Given the description of an element on the screen output the (x, y) to click on. 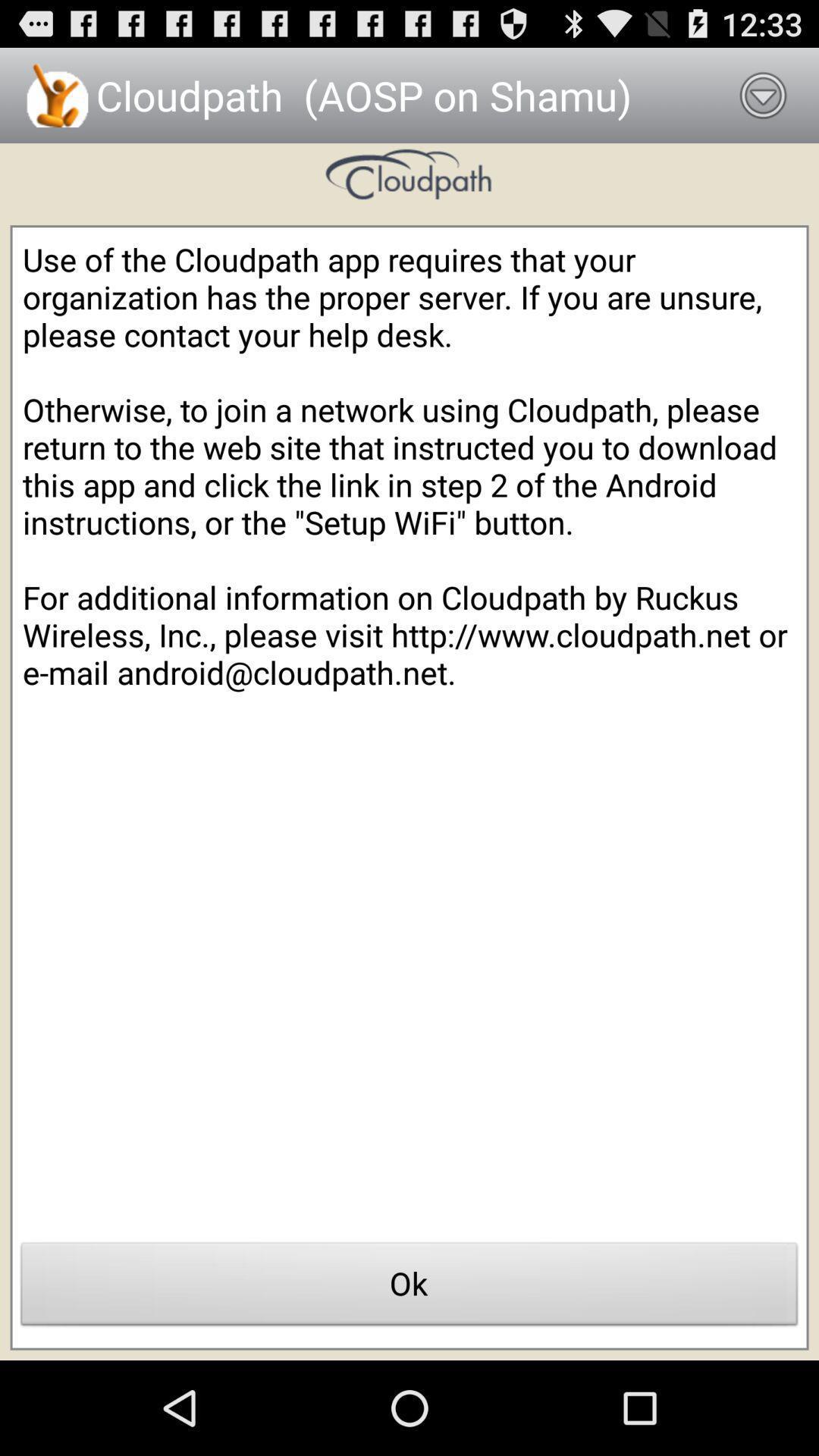
open app below use of the item (409, 1287)
